Given the description of an element on the screen output the (x, y) to click on. 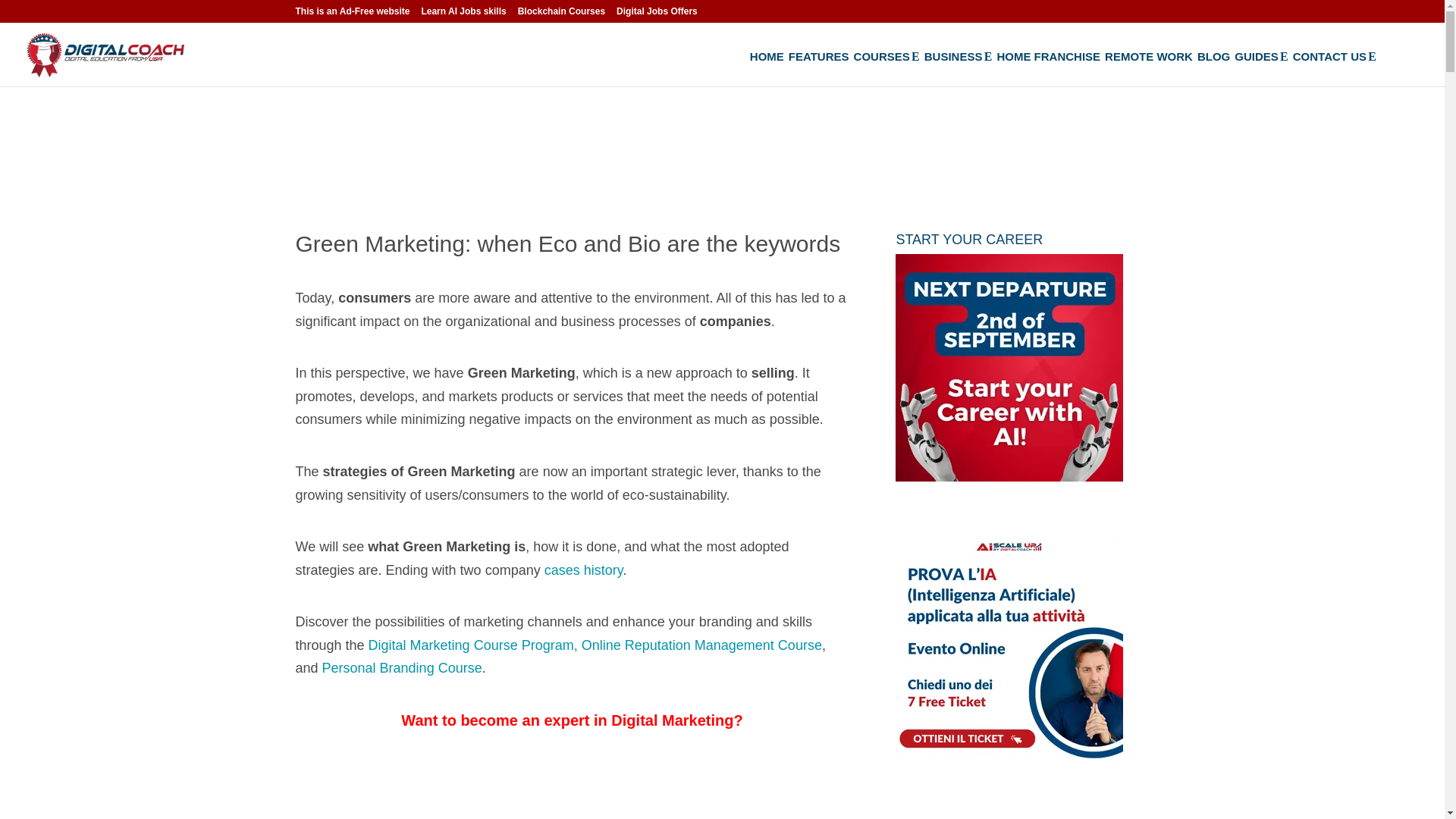
BUSINESS (958, 67)
Digital Jobs Offers (656, 14)
This is an Ad-Free website (352, 14)
COURSES (886, 67)
Learn AI Jobs skills (462, 14)
Discover our Courses on Digital Marketing areas. (881, 56)
HOME (766, 67)
Free Resources. (1256, 56)
FEATURES (818, 67)
Blockchain Courses (561, 14)
